Given the description of an element on the screen output the (x, y) to click on. 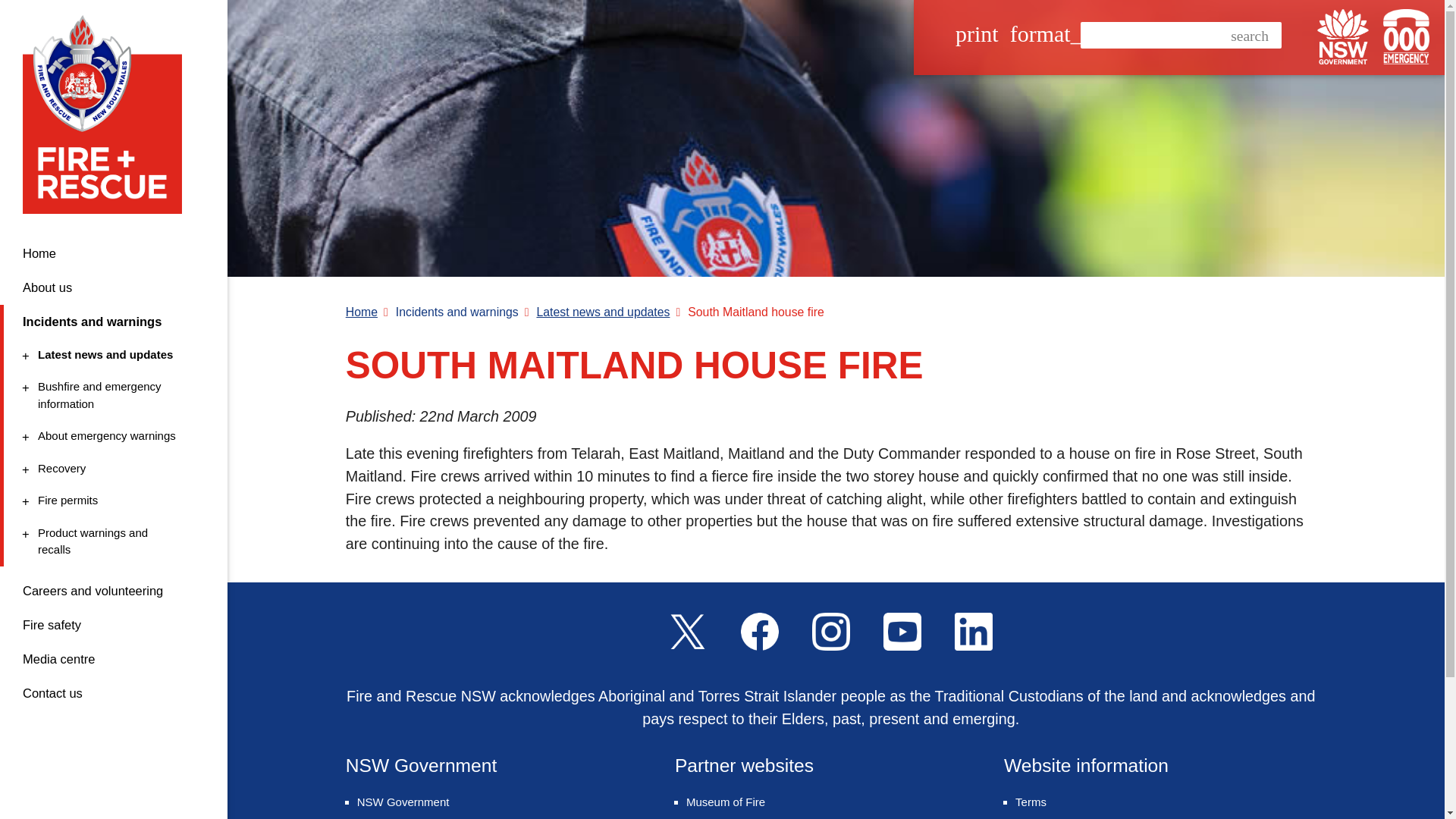
NSW Government (111, 395)
About emergency warnings (1342, 36)
Recovery (111, 436)
Fire permits (111, 468)
Home (111, 500)
Fire and Rescue NSW (113, 253)
Latest news and updates (107, 114)
